Given the description of an element on the screen output the (x, y) to click on. 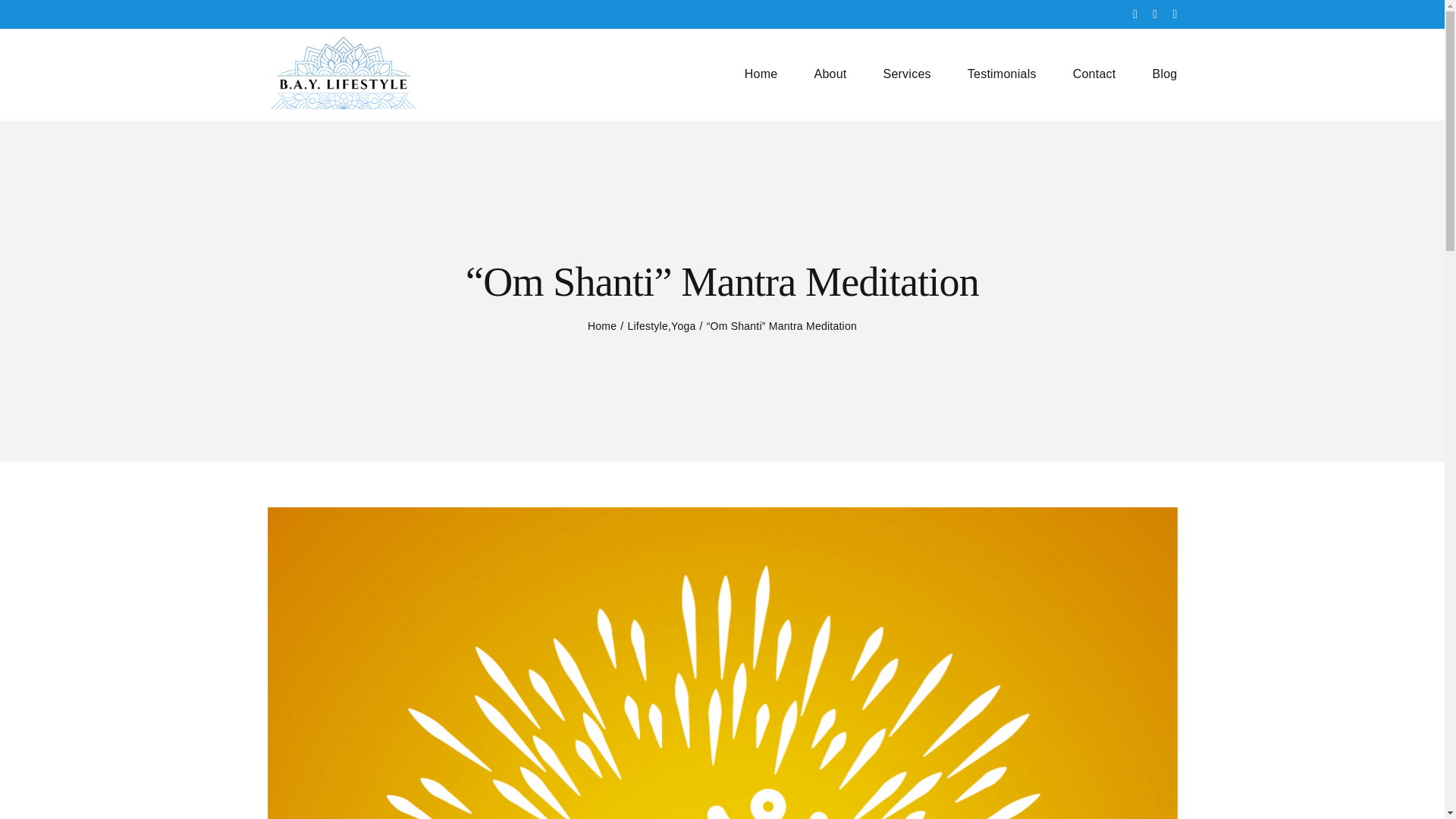
Lifestyle (647, 326)
Yoga (683, 326)
Home (601, 326)
